Given the description of an element on the screen output the (x, y) to click on. 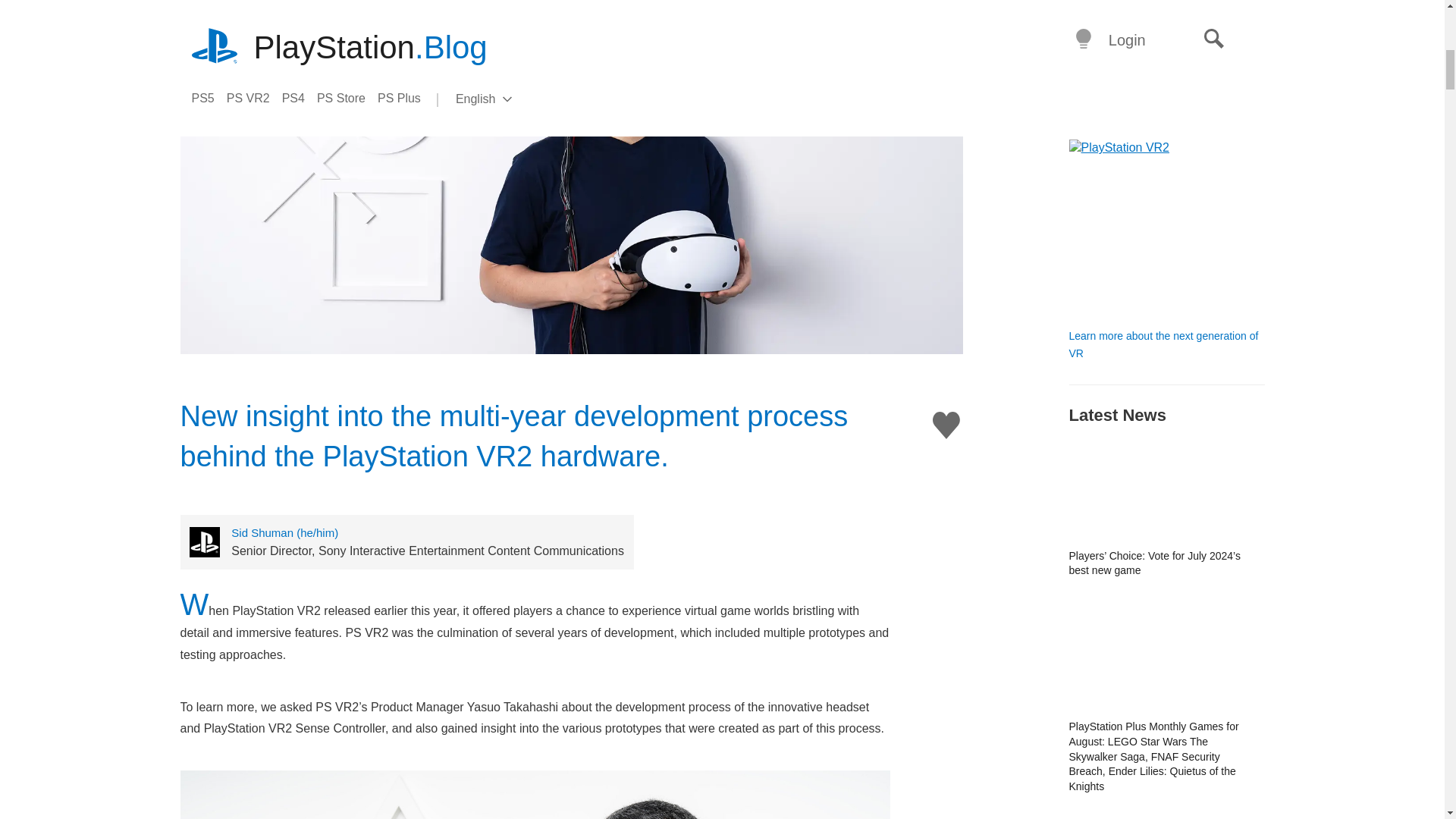
Like this (946, 424)
